Given the description of an element on the screen output the (x, y) to click on. 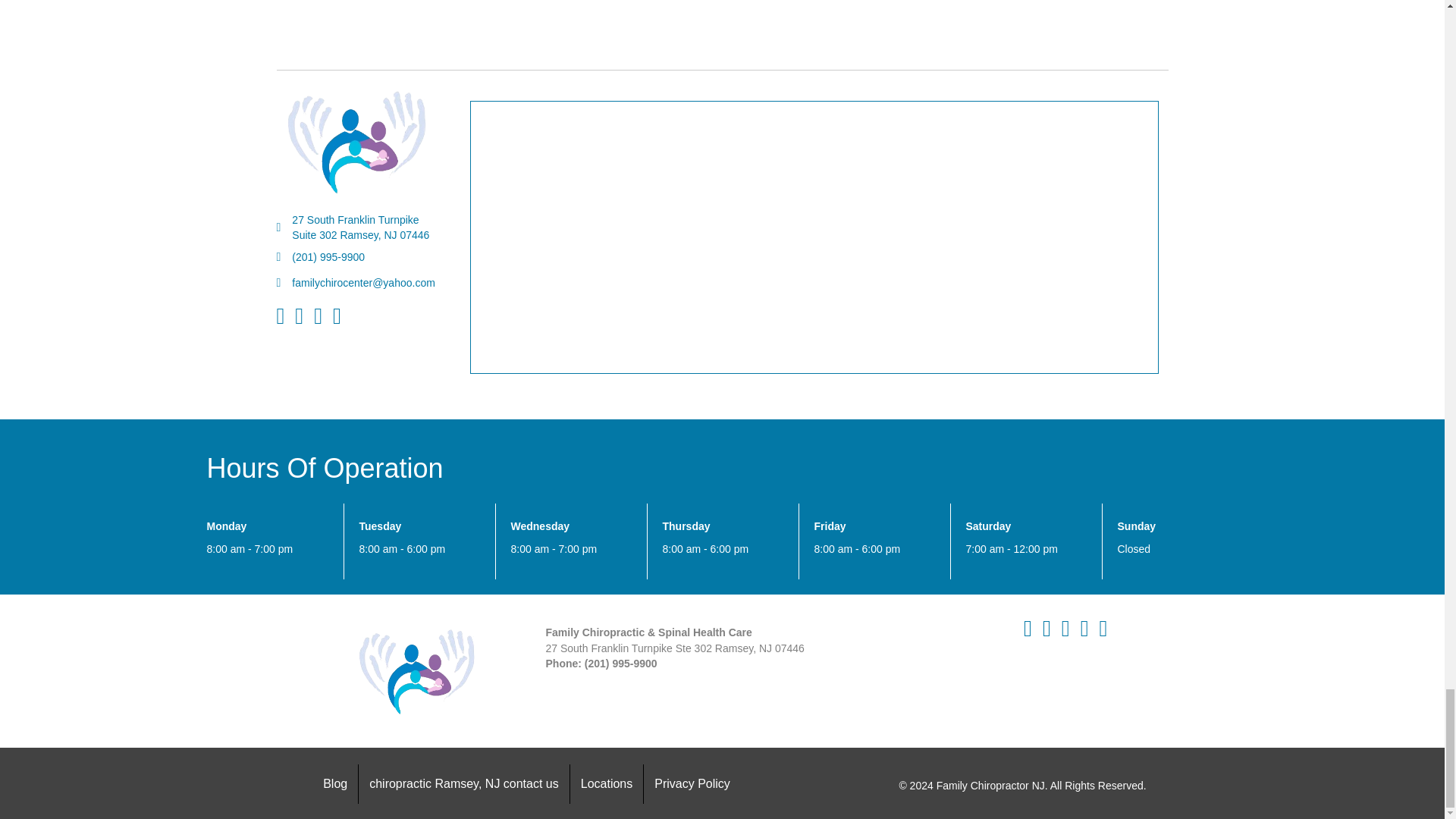
newfamilynjLogo3-1.jpg (417, 670)
